Given the description of an element on the screen output the (x, y) to click on. 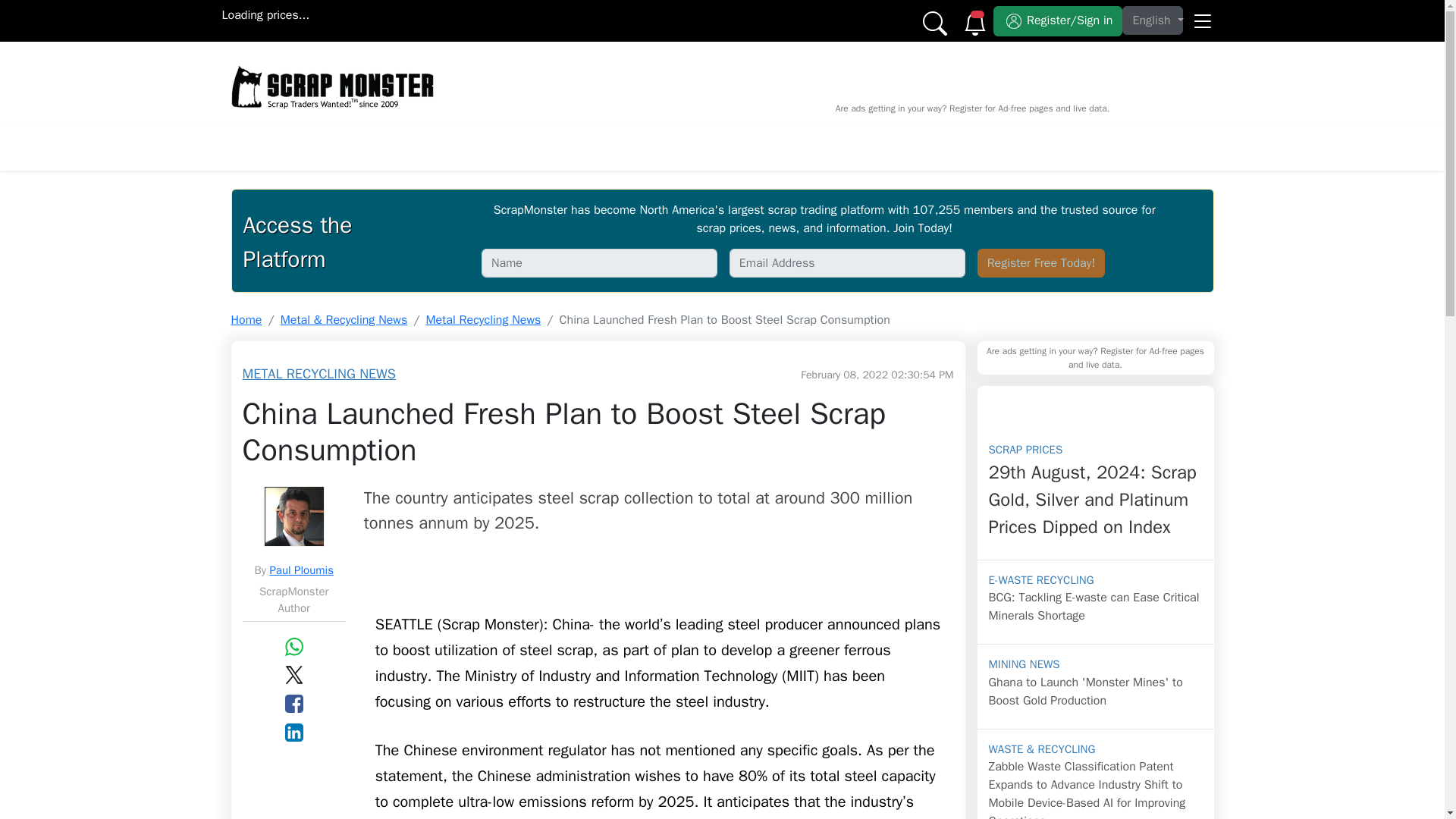
Yard Finder (967, 147)
SCRAP METAL PRICES (382, 147)
Open Menu (1201, 15)
Open Menu (1201, 15)
English (1152, 20)
Get an instant offer on your damaged car (602, 65)
HOME (269, 147)
MARKETPLACE (574, 147)
NEWS (491, 147)
